Given the description of an element on the screen output the (x, y) to click on. 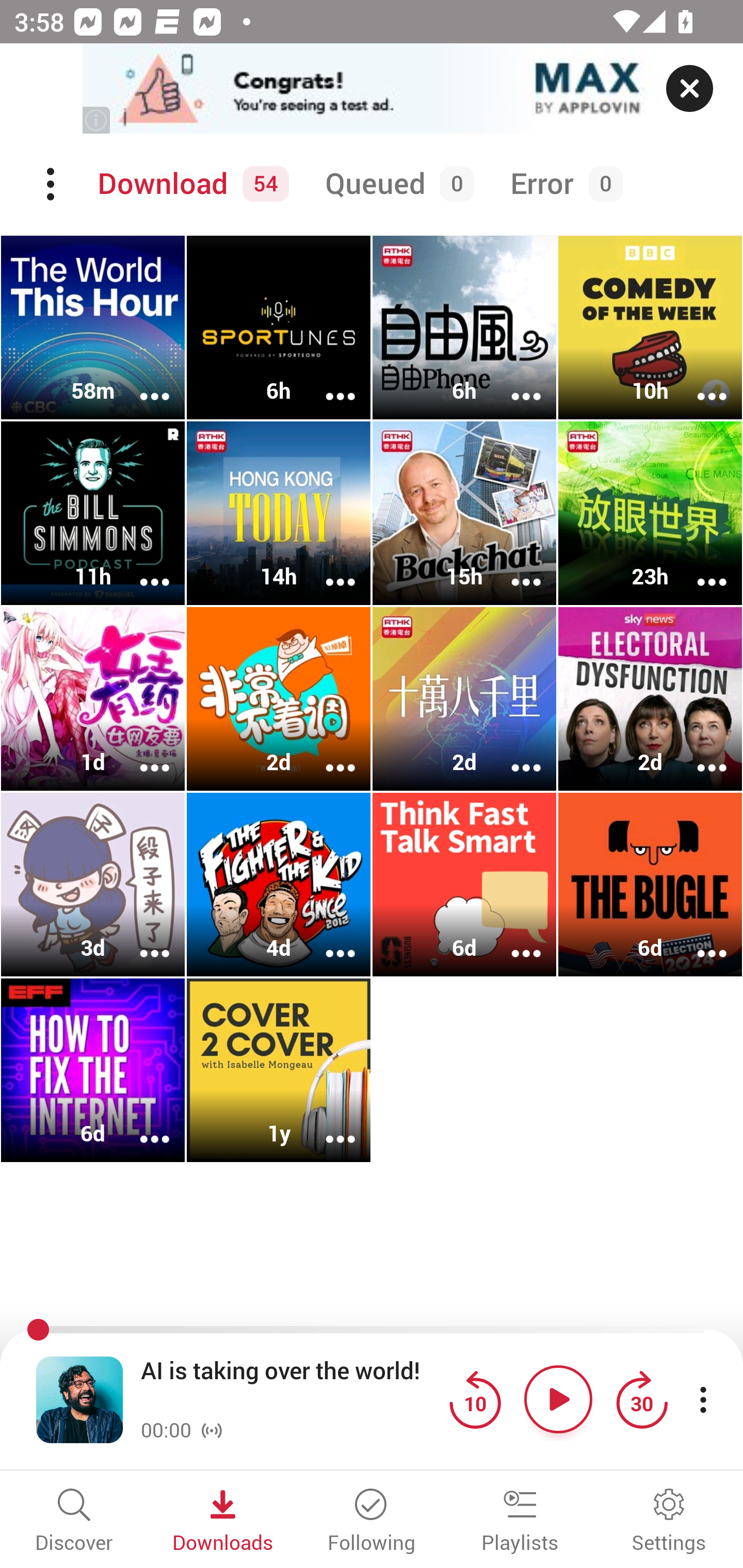
app-monetization (371, 88)
(i) (96, 119)
Menu (52, 184)
 Download 54 (189, 184)
 Queued 0 (396, 184)
 Error 0 (562, 184)
The World This Hour 58m More options More options (92, 327)
Sportunes HK 6h More options More options (278, 327)
自由风自由PHONE 6h More options More options (464, 327)
Comedy of the Week 10h More options More options (650, 327)
More options (141, 382)
More options (326, 382)
More options (512, 382)
More options (698, 382)
Hong Kong Today 14h More options More options (278, 513)
Backchat 15h More options More options (464, 513)
放眼世界 23h More options More options (650, 513)
More options (141, 569)
More options (326, 569)
More options (512, 569)
More options (698, 569)
女王有药丨爆笑脱口秀 1d More options More options (92, 698)
非常不着调 2d More options More options (278, 698)
十萬八千里 2d More options More options (464, 698)
Electoral Dysfunction 2d More options More options (650, 698)
More options (141, 754)
More options (326, 754)
More options (512, 754)
More options (698, 754)
段子来了 3d More options More options (92, 883)
The Fighter & The Kid 4d More options More options (278, 883)
The Bugle 6d More options More options (650, 883)
More options (141, 940)
More options (326, 940)
More options (512, 940)
More options (698, 940)
Cover 2 Cover 1y More options More options (278, 1069)
More options (141, 1125)
More options (326, 1125)
Open fullscreen player (79, 1399)
More player controls (703, 1399)
AI is taking over the world! (290, 1385)
Play button (558, 1398)
Jump back (475, 1399)
Jump forward (641, 1399)
Discover (74, 1521)
Downloads (222, 1521)
Following (371, 1521)
Playlists (519, 1521)
Settings (668, 1521)
